Given the description of an element on the screen output the (x, y) to click on. 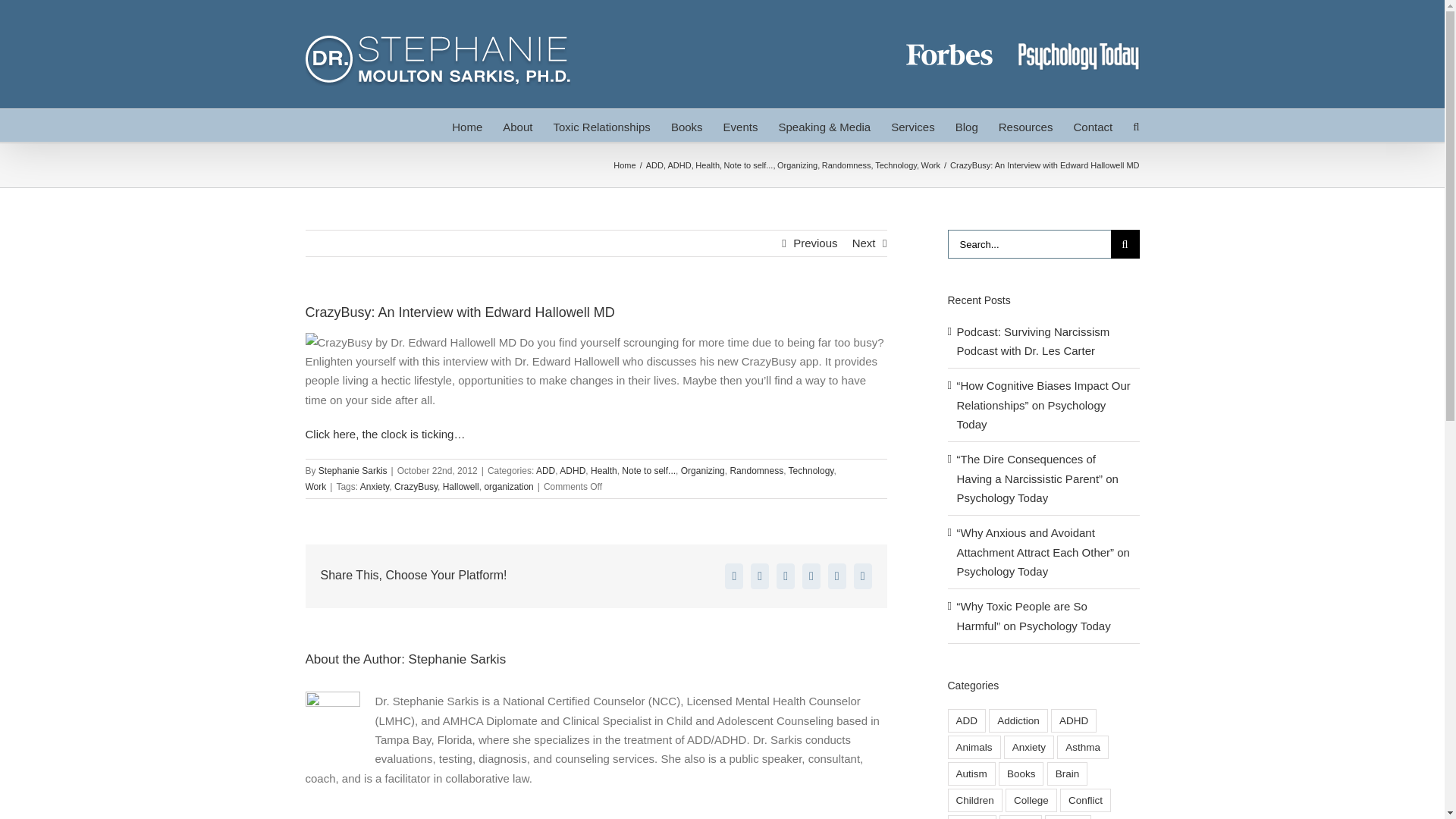
Posts by Stephanie Sarkis (352, 470)
Events (740, 124)
Resources (1025, 124)
Contact (1092, 124)
Click here, the clock is ticking... (384, 433)
Books (687, 124)
Home (466, 124)
Services (912, 124)
About (517, 124)
Posts by Stephanie Sarkis (457, 658)
Toxic Relationships (601, 124)
